Given the description of an element on the screen output the (x, y) to click on. 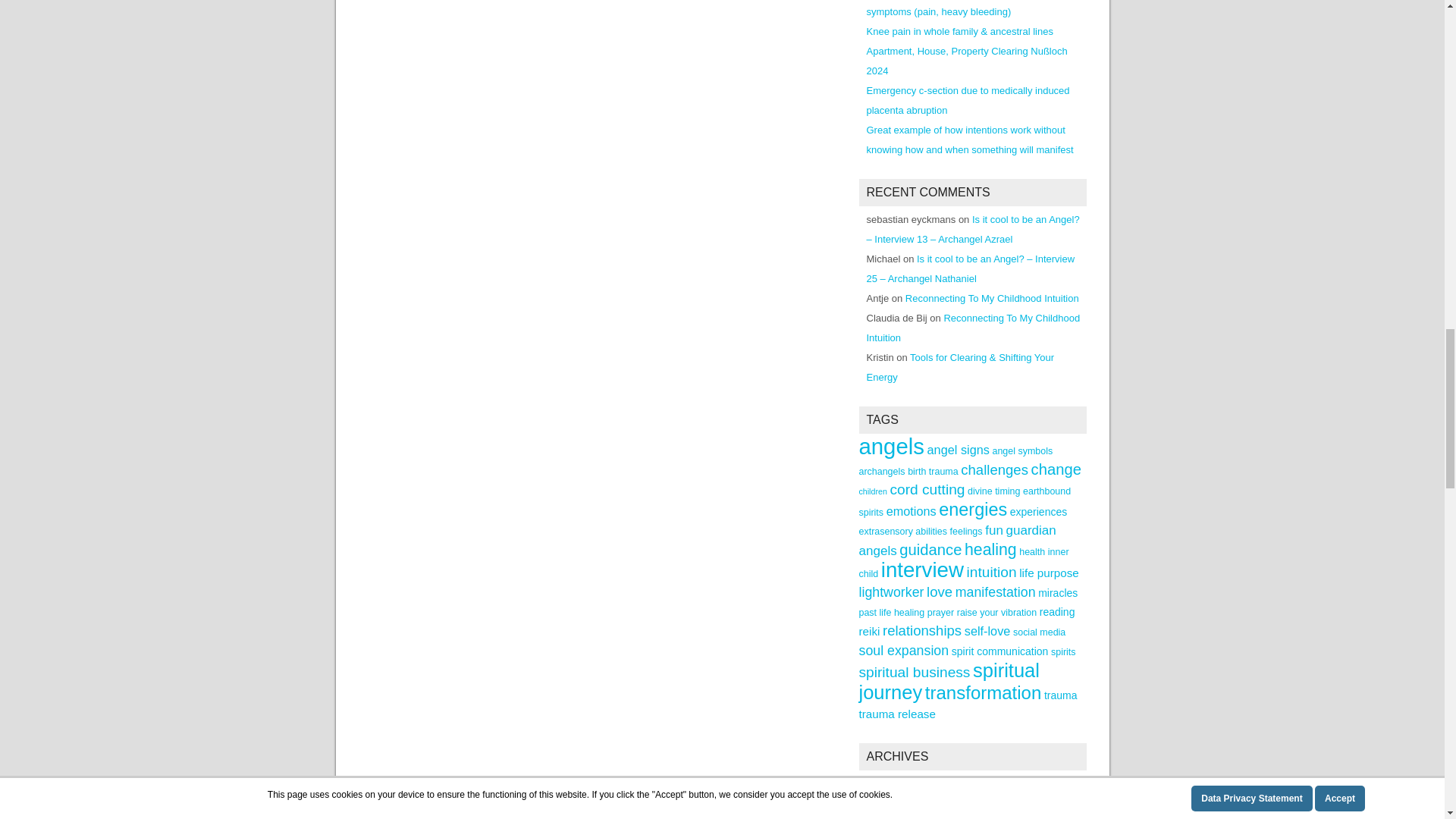
angels (891, 446)
Reconnecting To My Childhood Intuition (973, 327)
Reconnecting To My Childhood Intuition (991, 297)
angel signs (958, 449)
